Given the description of an element on the screen output the (x, y) to click on. 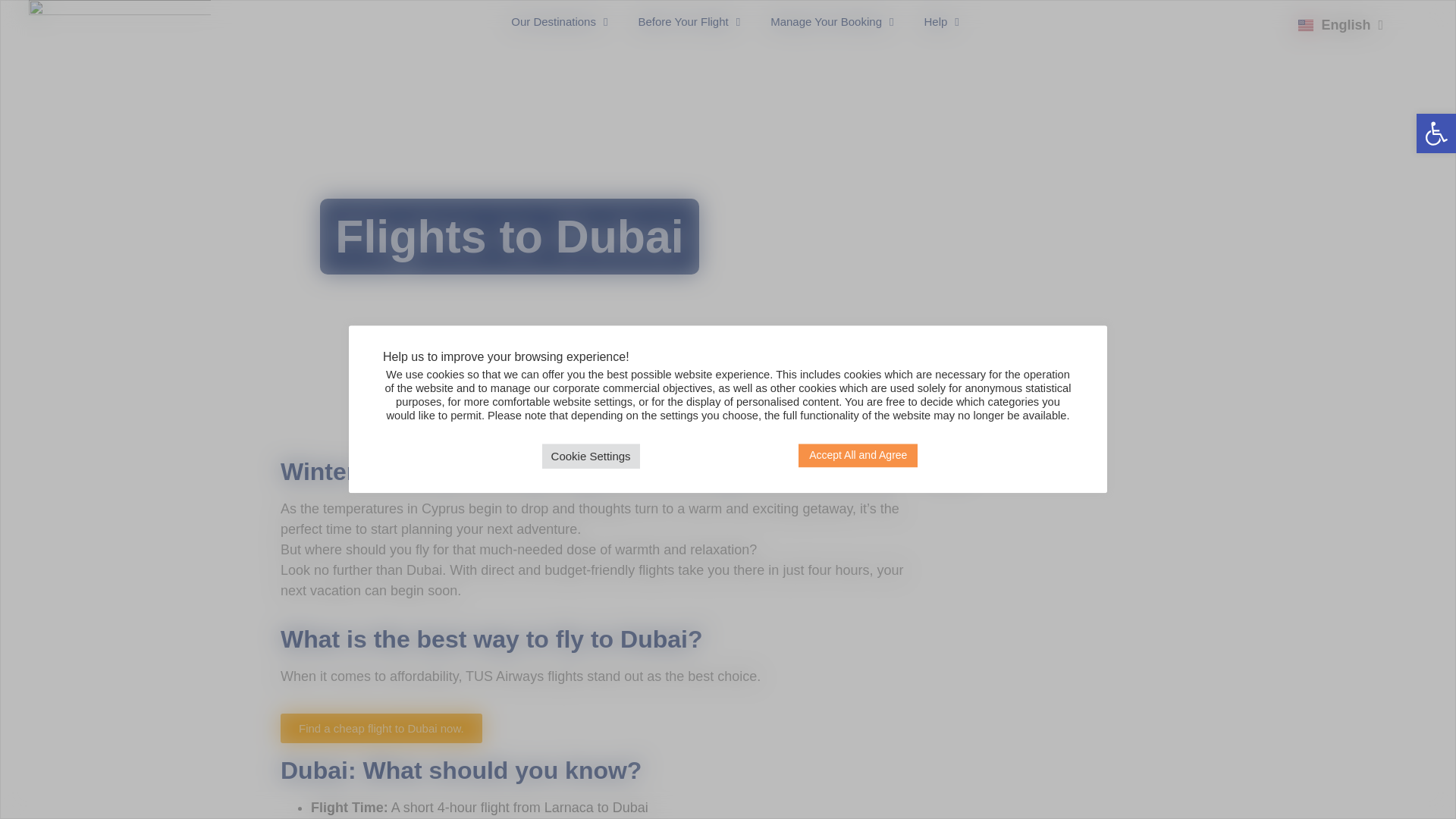
Our Destinations (559, 21)
Accessibility Tools (1435, 133)
Help (941, 21)
Manage Your Booking (831, 21)
Before Your Flight (689, 21)
